Given the description of an element on the screen output the (x, y) to click on. 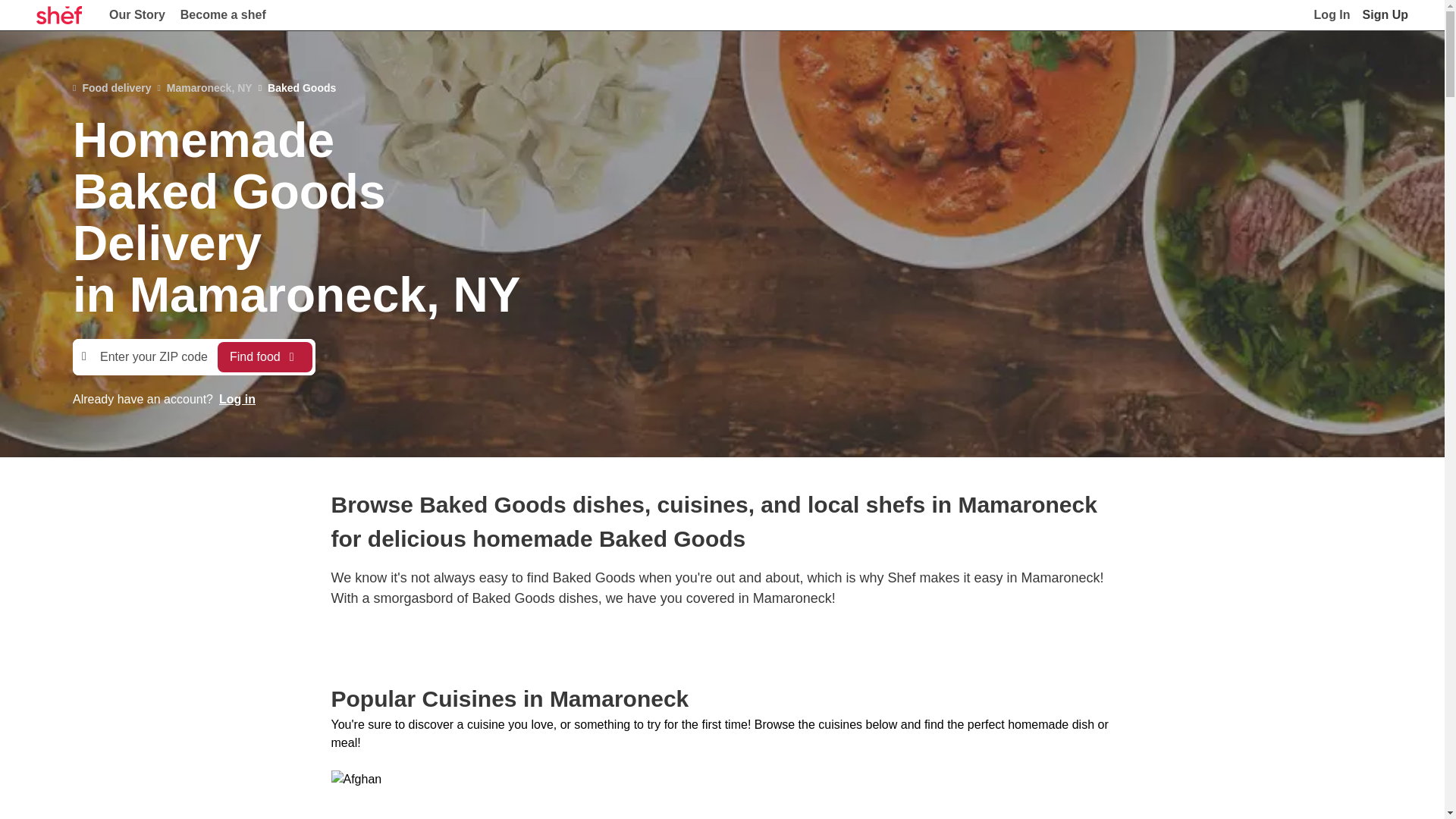
Sign Up (1384, 14)
Baked Goods (297, 87)
Our Story (137, 14)
Find food (264, 357)
Become a shef (223, 14)
Afghan (369, 794)
Mamaroneck, NY (204, 87)
Log in (237, 399)
Food delivery (111, 87)
Log In (1332, 14)
